Given the description of an element on the screen output the (x, y) to click on. 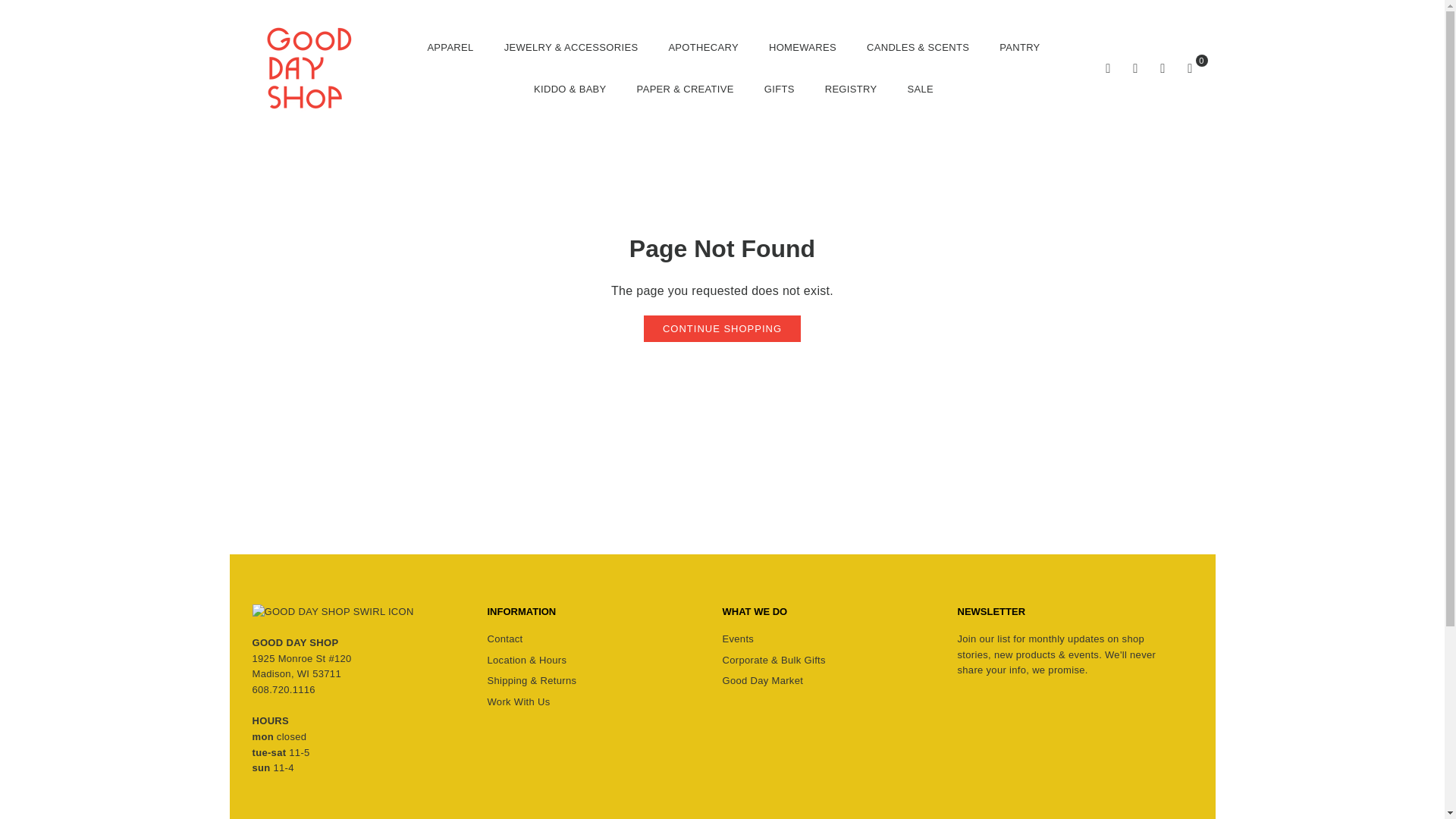
Search (1108, 67)
Settings (1136, 67)
HOMEWARES (802, 46)
GIFTS (779, 88)
APOTHECARY (702, 46)
REGISTRY (850, 88)
PANTRY (1019, 46)
APPAREL (449, 46)
Wishlist (1163, 67)
SALE (919, 88)
